Given the description of an element on the screen output the (x, y) to click on. 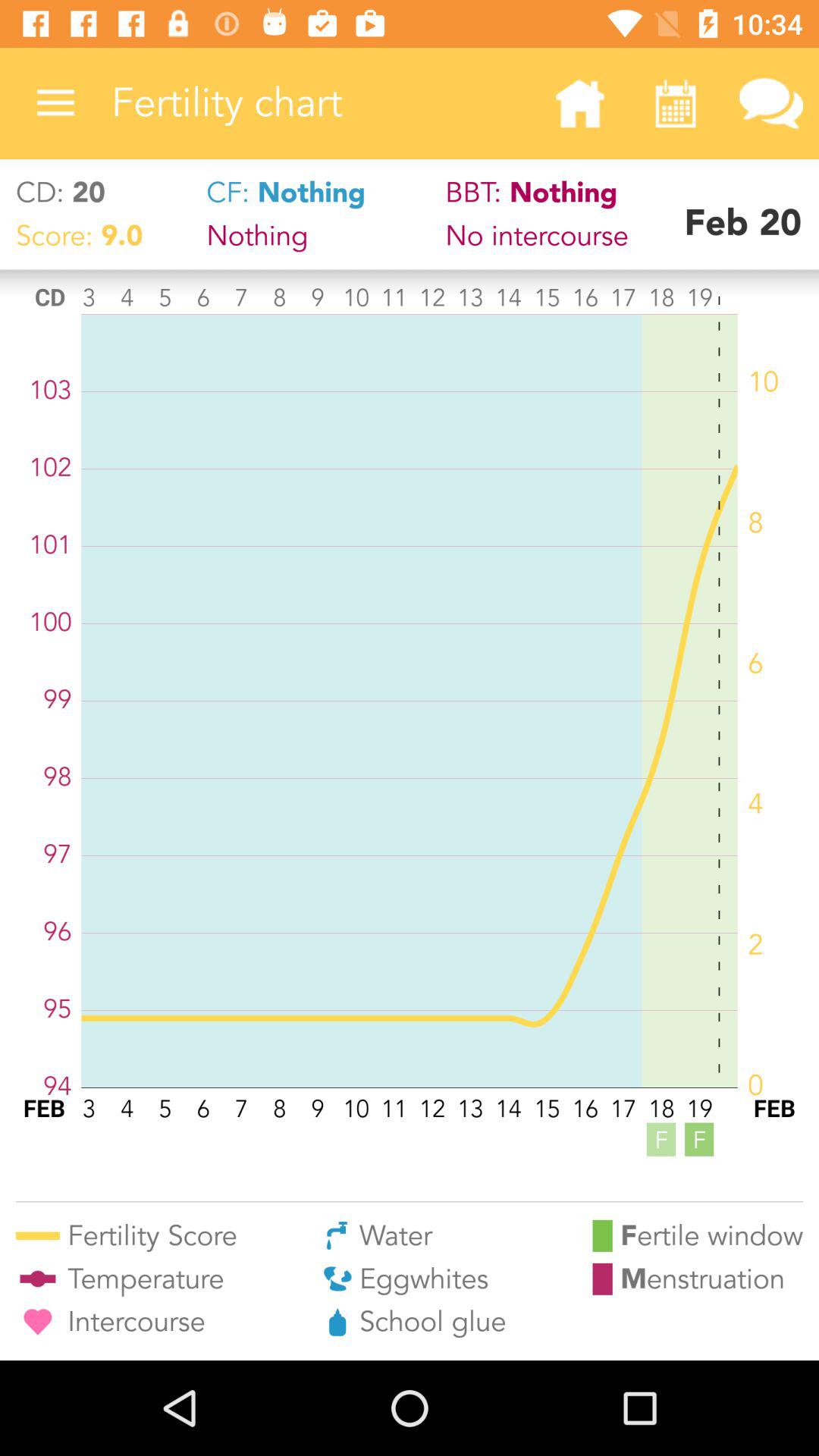
turn off item to the right of the fertility chart icon (579, 103)
